Given the description of an element on the screen output the (x, y) to click on. 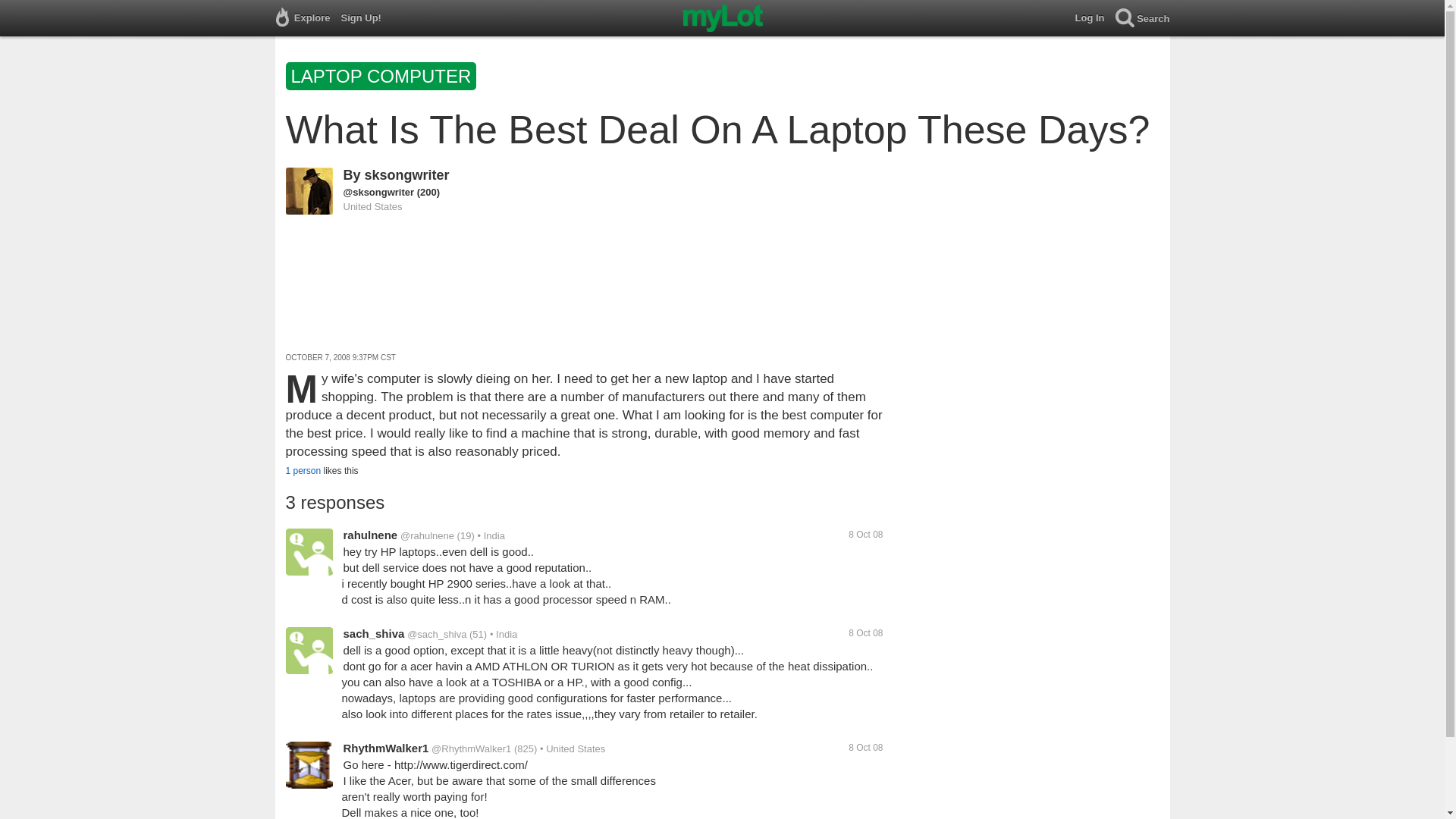
RhythmWalker1 (385, 748)
Log In (1095, 18)
1 person (302, 470)
sksongwriter (407, 174)
rahulnene (369, 534)
LAPTOP COMPUTER (382, 79)
Sign Up! (365, 18)
